Given the description of an element on the screen output the (x, y) to click on. 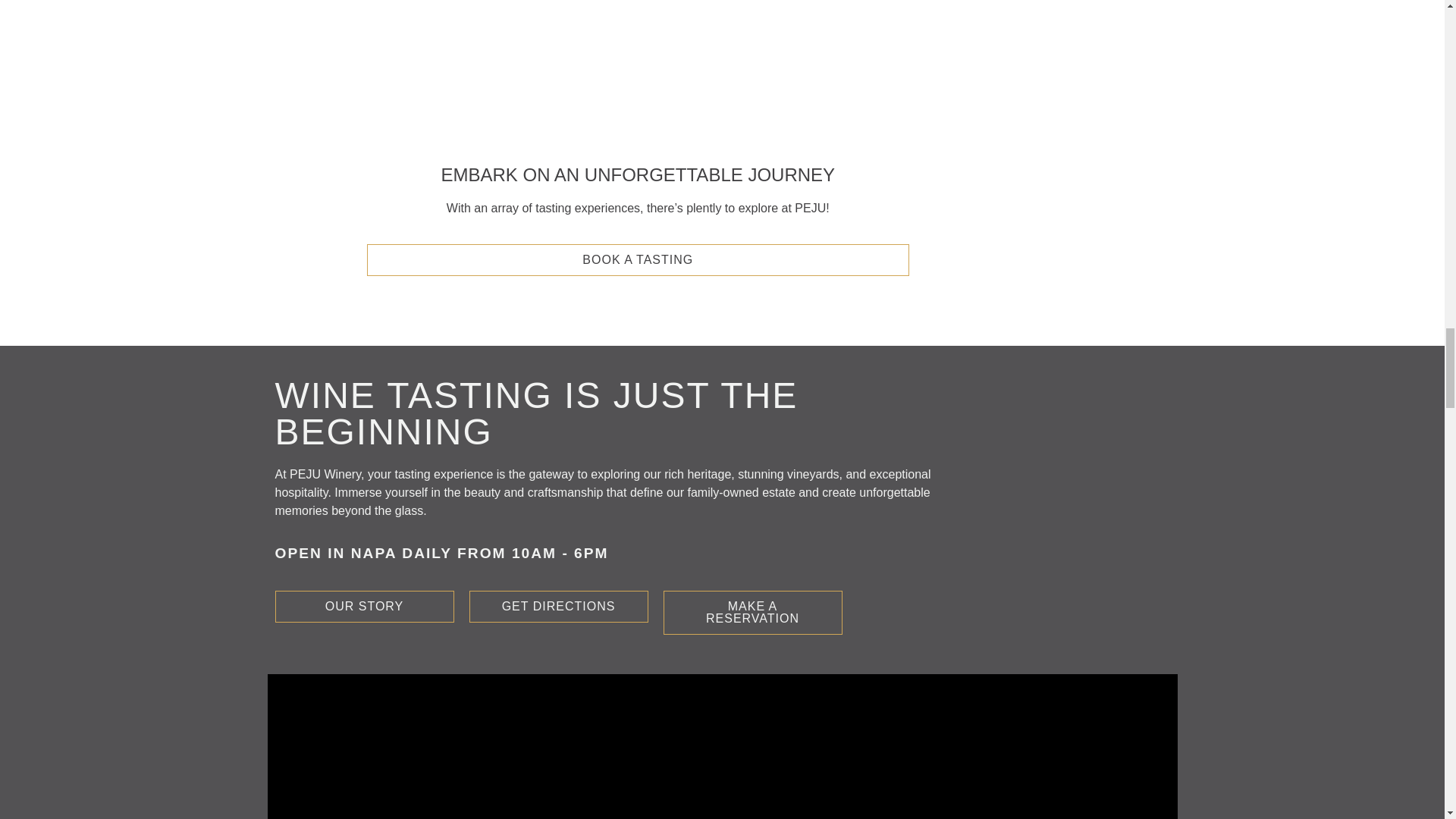
vimeo Video Player (721, 746)
